Given the description of an element on the screen output the (x, y) to click on. 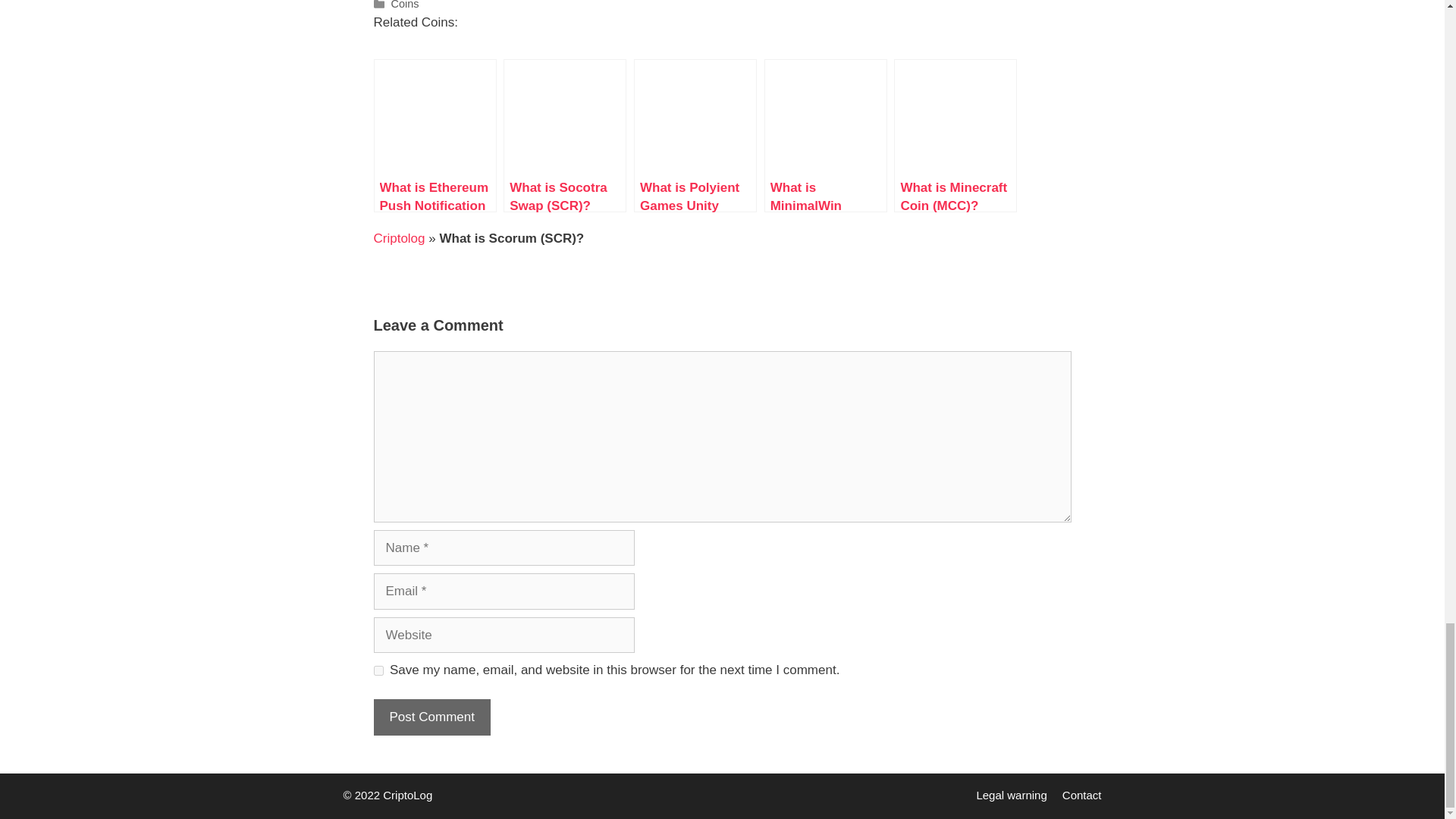
Legal warning (1010, 794)
Post Comment (430, 717)
Contact (1082, 794)
yes (377, 670)
Criptolog (398, 237)
Coins (405, 4)
Post Comment (430, 717)
